Given the description of an element on the screen output the (x, y) to click on. 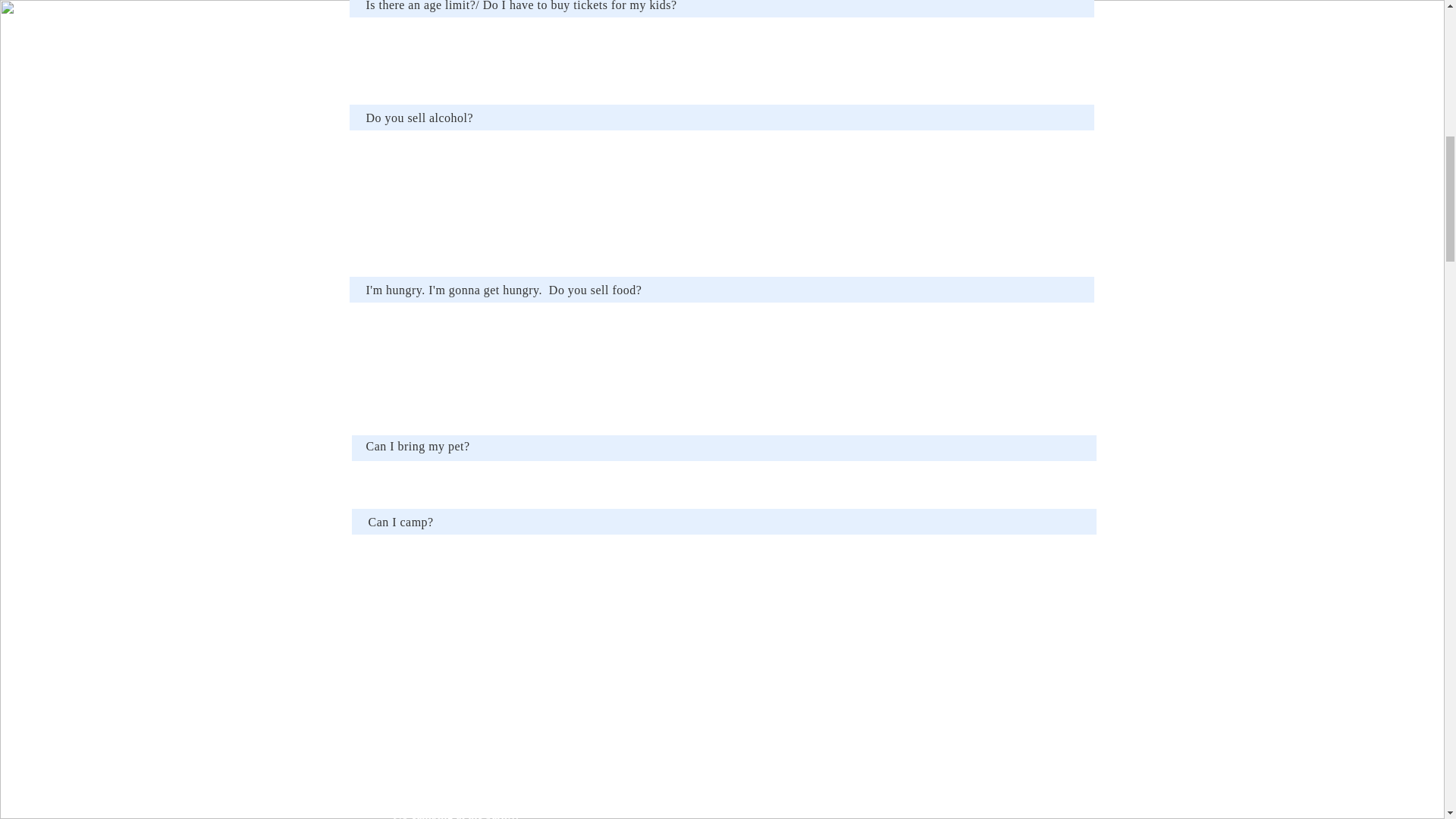
 get hungry.  Do you sell food? (561, 289)
Can I camp? (400, 521)
Can I bring my pet? (416, 445)
I'm hungry. I'm gonna (422, 289)
